Given the description of an element on the screen output the (x, y) to click on. 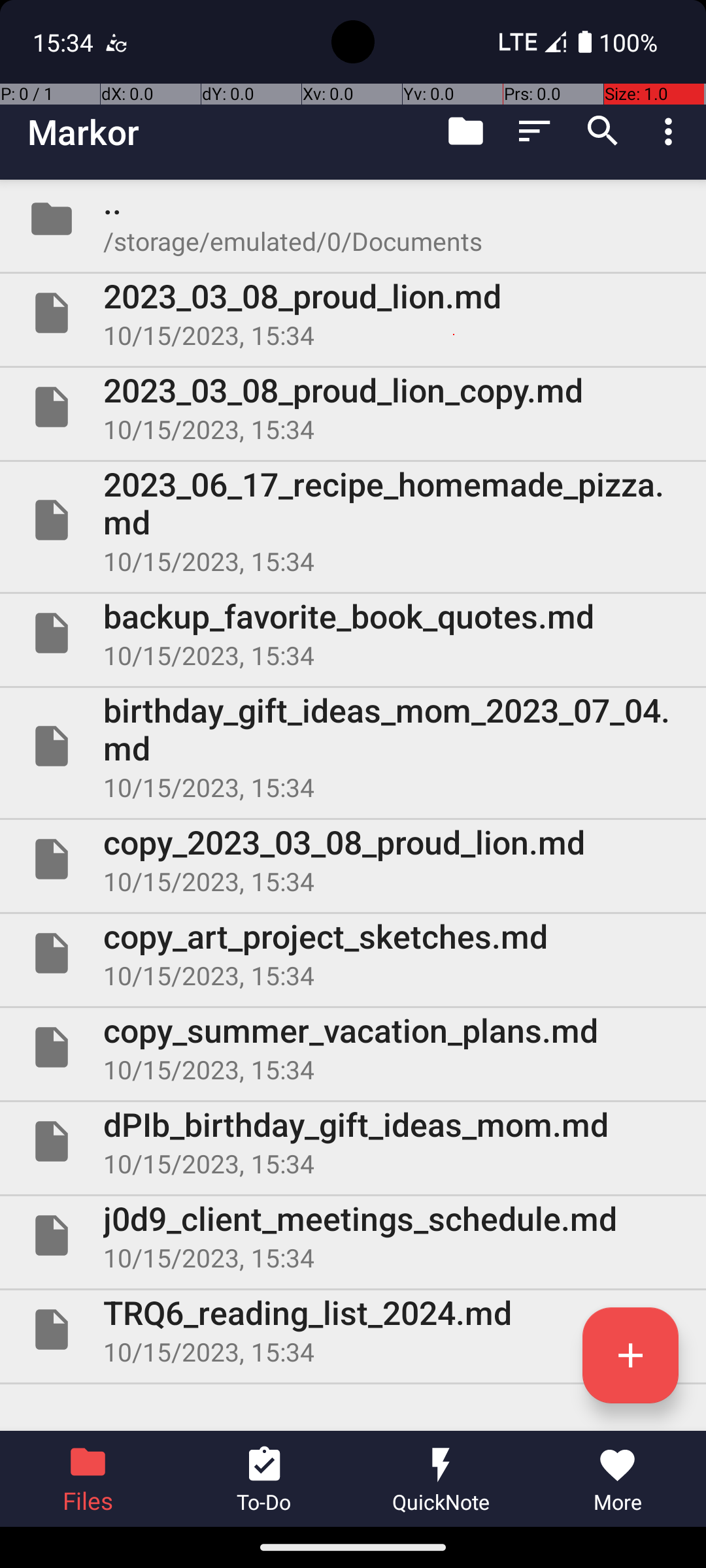
File 2023_03_08_proud_lion.md  Element type: android.widget.LinearLayout (353, 312)
File 2023_03_08_proud_lion_copy.md  Element type: android.widget.LinearLayout (353, 406)
File 2023_06_17_recipe_homemade_pizza.md  Element type: android.widget.LinearLayout (353, 519)
File backup_favorite_book_quotes.md  Element type: android.widget.LinearLayout (353, 632)
File birthday_gift_ideas_mom_2023_07_04.md  Element type: android.widget.LinearLayout (353, 745)
File copy_2023_03_08_proud_lion.md  Element type: android.widget.LinearLayout (353, 858)
File copy_art_project_sketches.md  Element type: android.widget.LinearLayout (353, 953)
File copy_summer_vacation_plans.md  Element type: android.widget.LinearLayout (353, 1047)
File dPIb_birthday_gift_ideas_mom.md  Element type: android.widget.LinearLayout (353, 1141)
File j0d9_client_meetings_schedule.md  Element type: android.widget.LinearLayout (353, 1235)
File TRQ6_reading_list_2024.md  Element type: android.widget.LinearLayout (353, 1329)
